Given the description of an element on the screen output the (x, y) to click on. 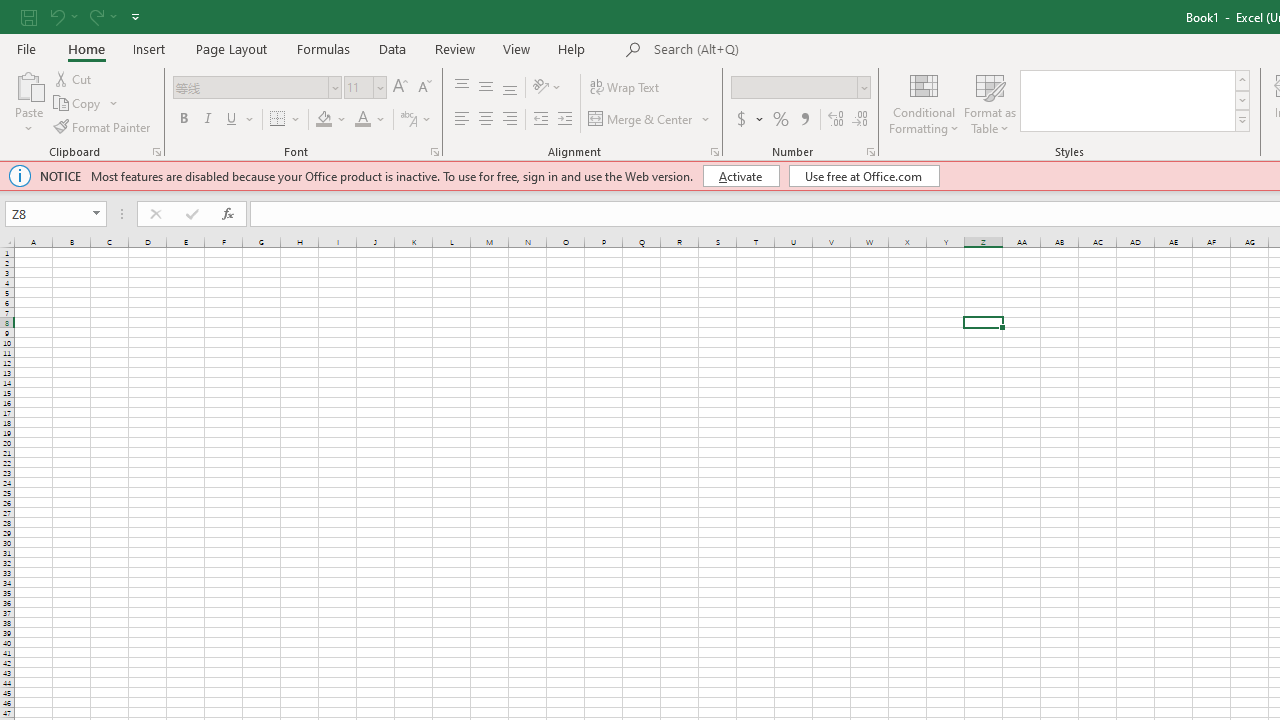
Fill Color (331, 119)
Increase Indent (565, 119)
Paste (28, 84)
Format Cell Font (434, 151)
Fill Color (324, 119)
Orientation (547, 87)
Merge & Center (641, 119)
Middle Align (485, 87)
Save (29, 15)
Undo (62, 15)
Font (250, 87)
Wrap Text (624, 87)
Paste (28, 102)
Formulas (323, 48)
Comma Style (804, 119)
